Given the description of an element on the screen output the (x, y) to click on. 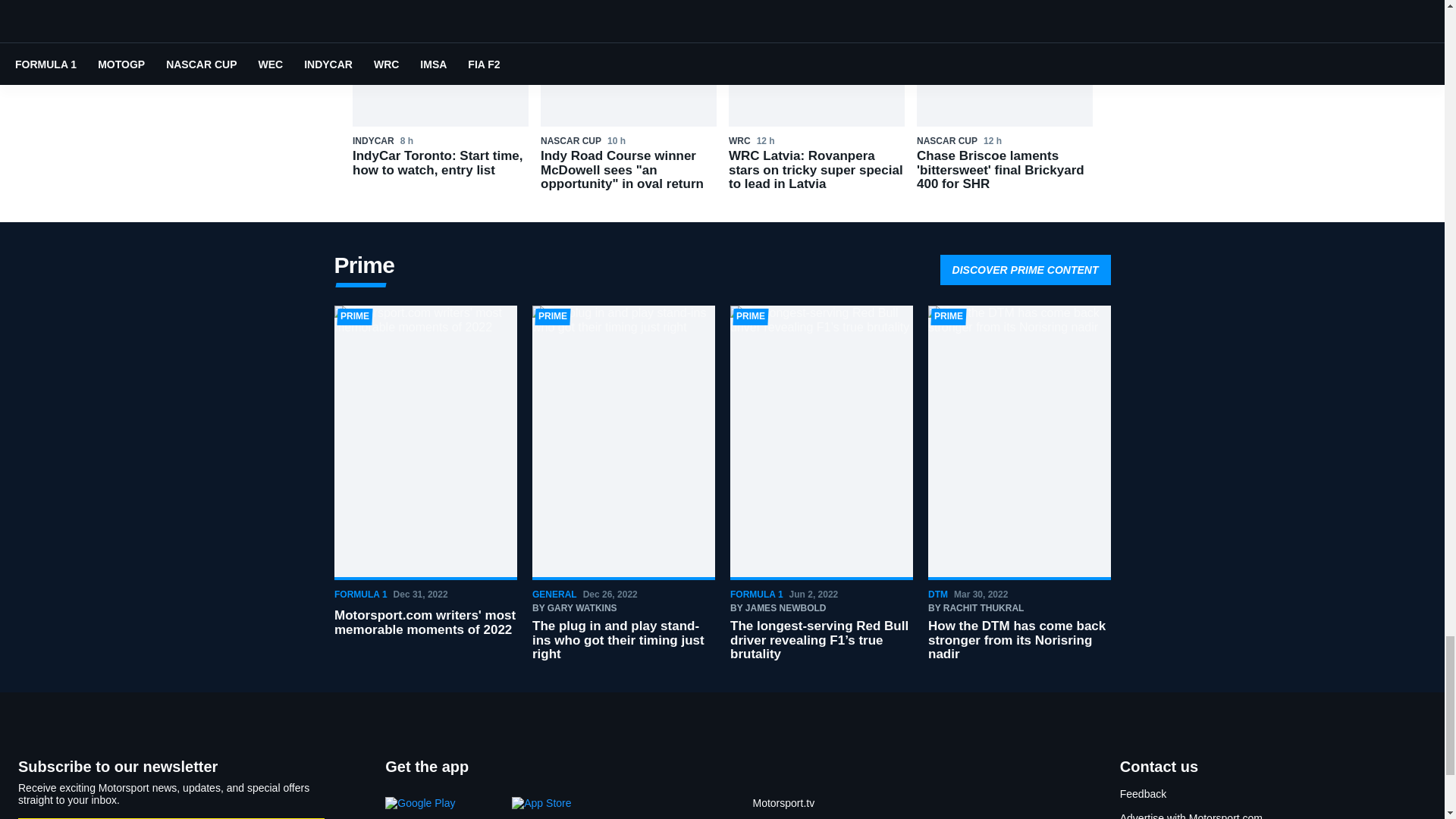
IndyCar Toronto: Start time, how to watch, entry list (439, 100)
